Given the description of an element on the screen output the (x, y) to click on. 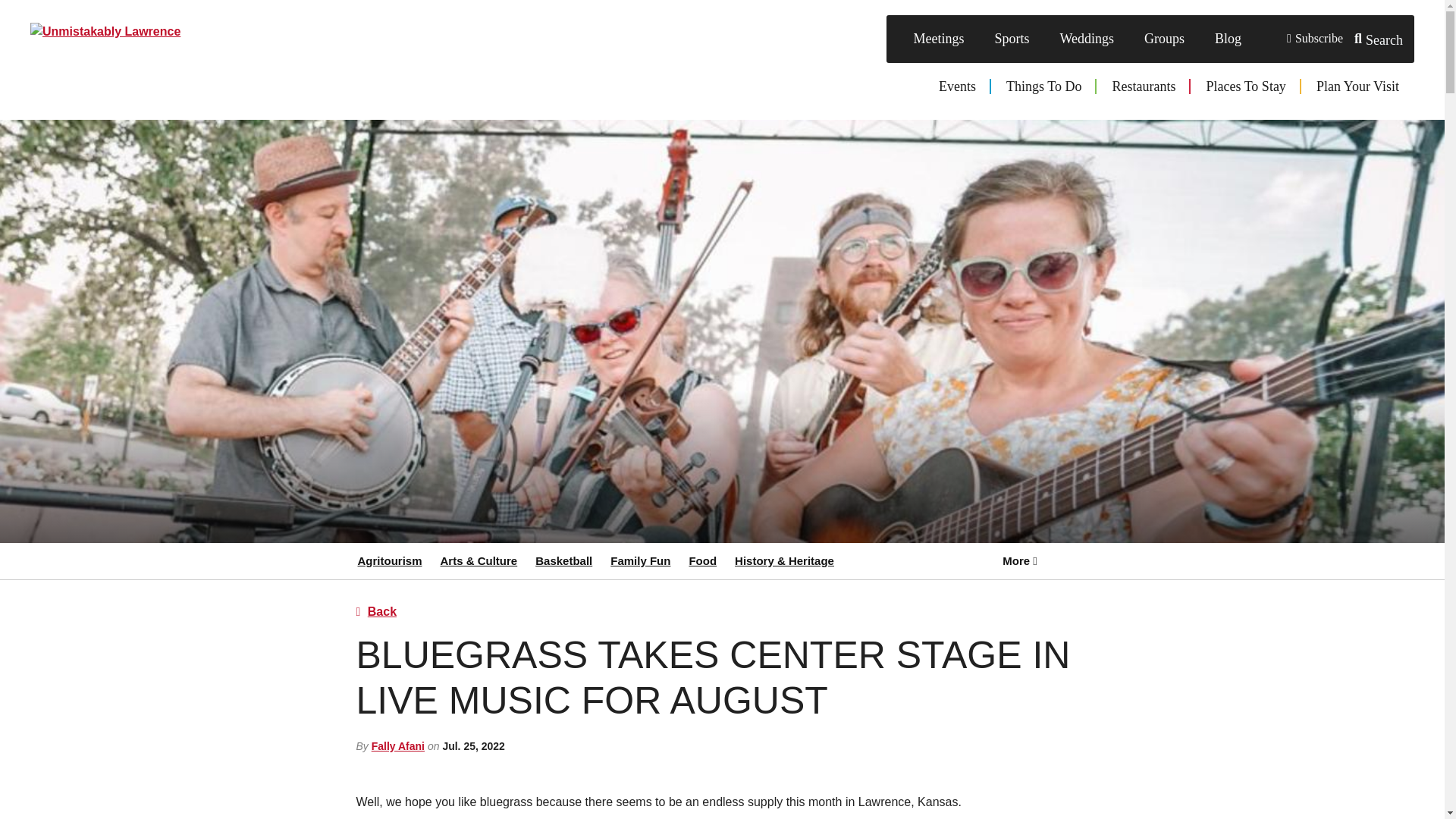
Weddings (1086, 39)
Meetings (938, 39)
Things To Do (1043, 85)
Restaurants (1143, 85)
Groups (1164, 39)
Search (1378, 38)
Plan Your Visit (1357, 85)
Places To Stay (1245, 85)
Subscribe (1314, 38)
Events (957, 85)
